Given the description of an element on the screen output the (x, y) to click on. 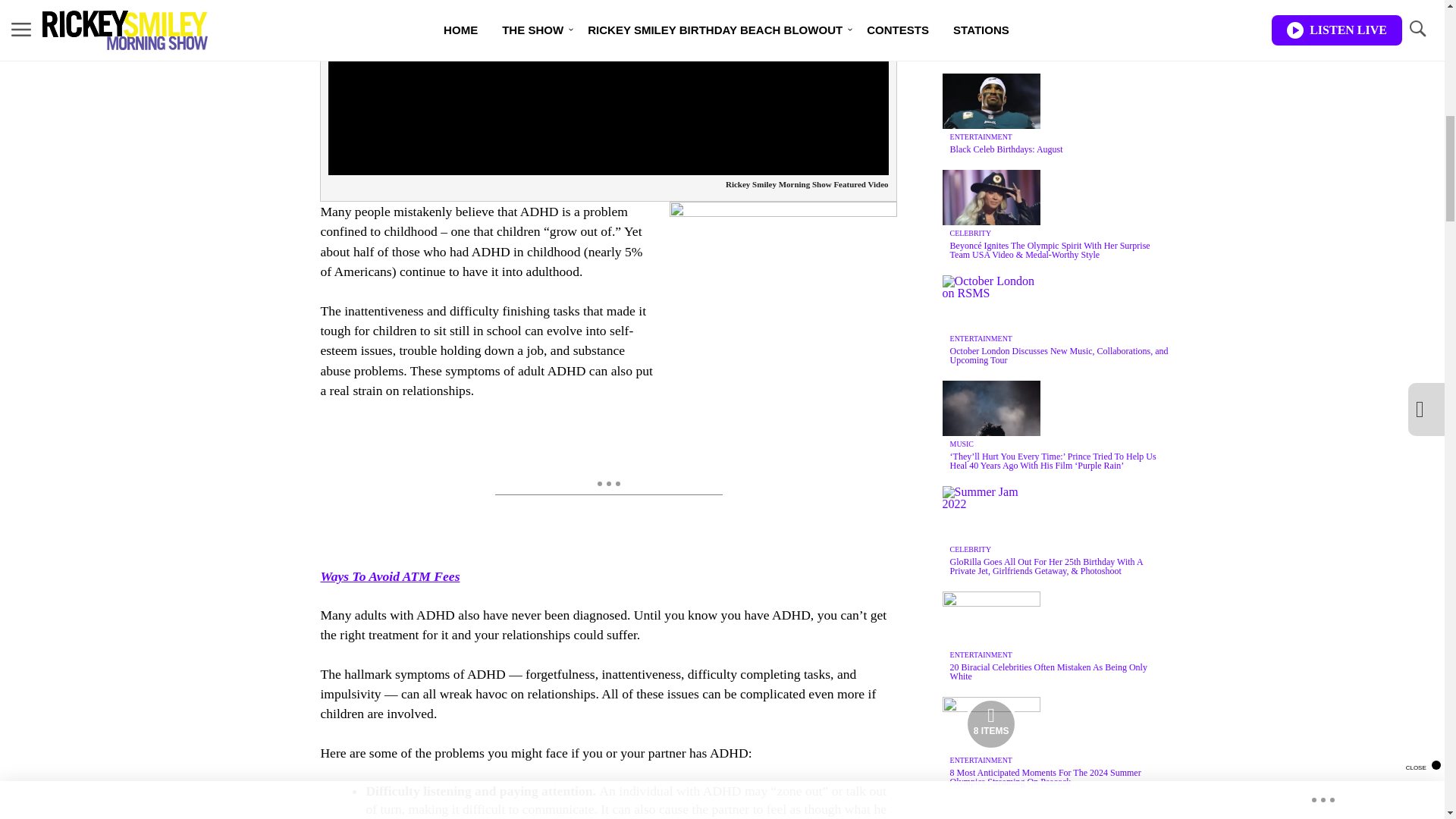
Media Playlist (990, 724)
Media Playlist (990, 11)
70 ITEMS (991, 11)
Ways To Avoid ATM Fees (390, 575)
